Given the description of an element on the screen output the (x, y) to click on. 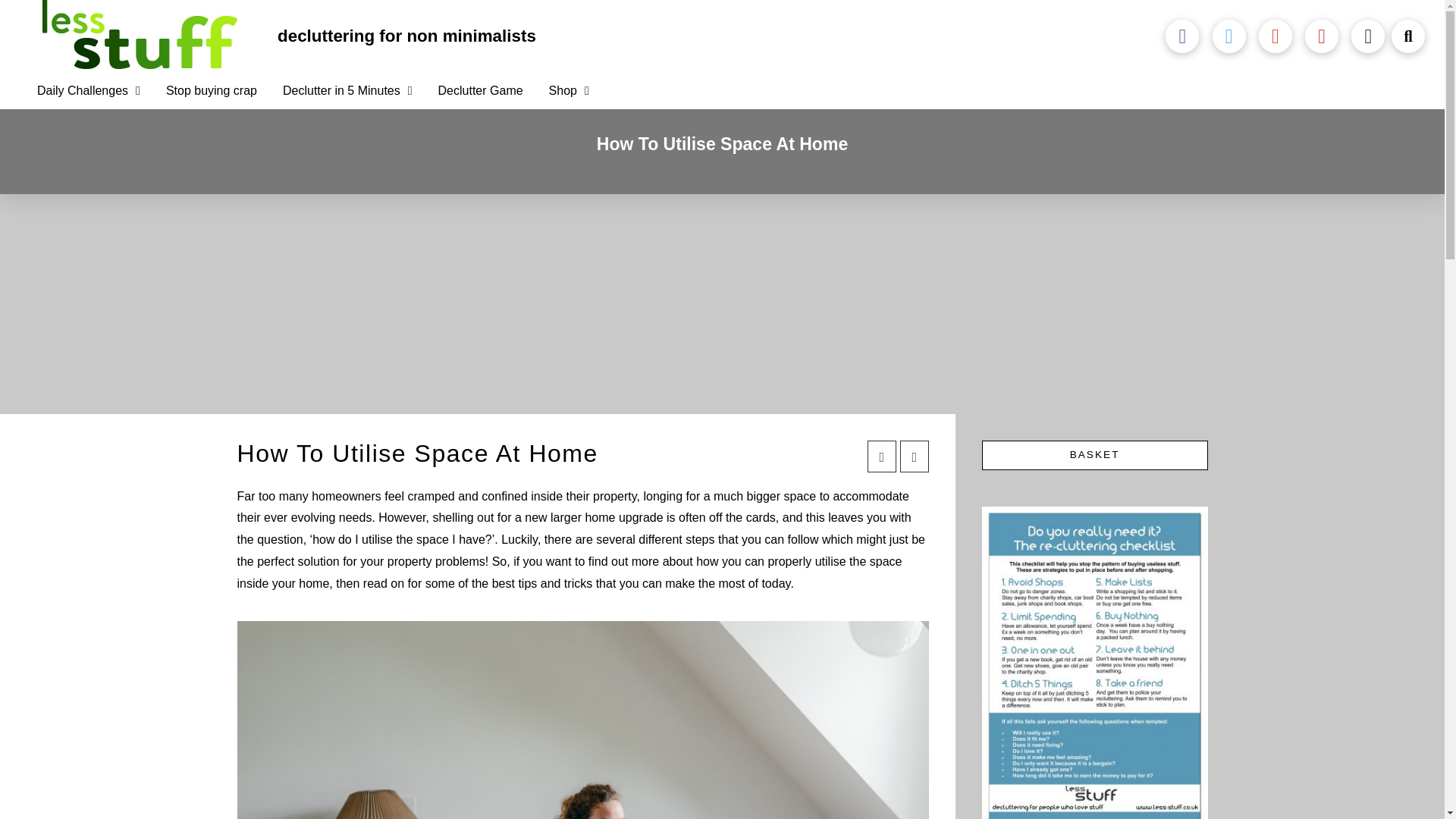
Declutter Game (480, 90)
Shop (568, 90)
Daily Challenges (88, 90)
Stop buying crap (210, 90)
Declutter in 5 Minutes (347, 90)
